Given the description of an element on the screen output the (x, y) to click on. 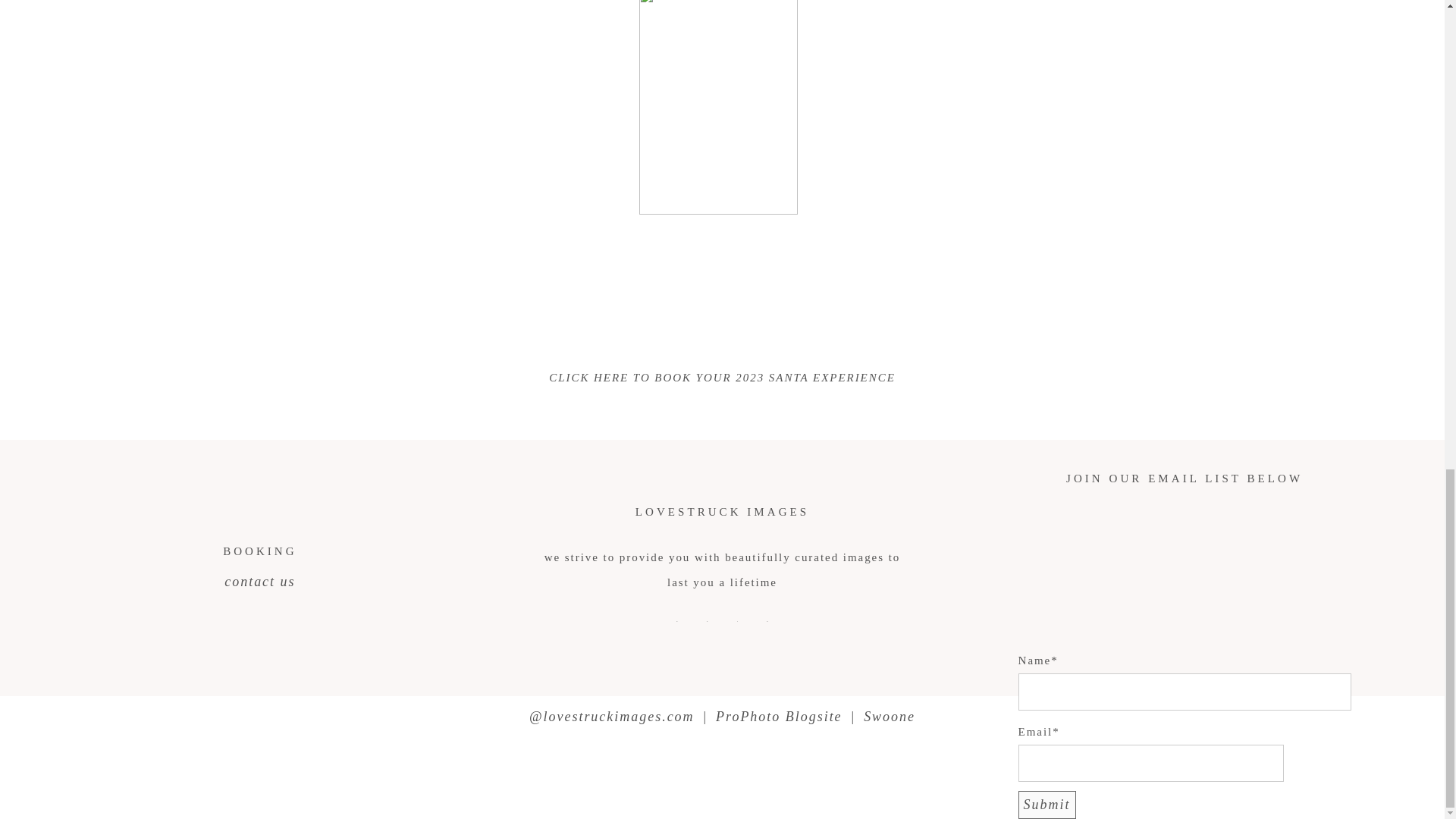
Submit (1046, 804)
ProPhoto Photographer Blog (778, 716)
